Given the description of an element on the screen output the (x, y) to click on. 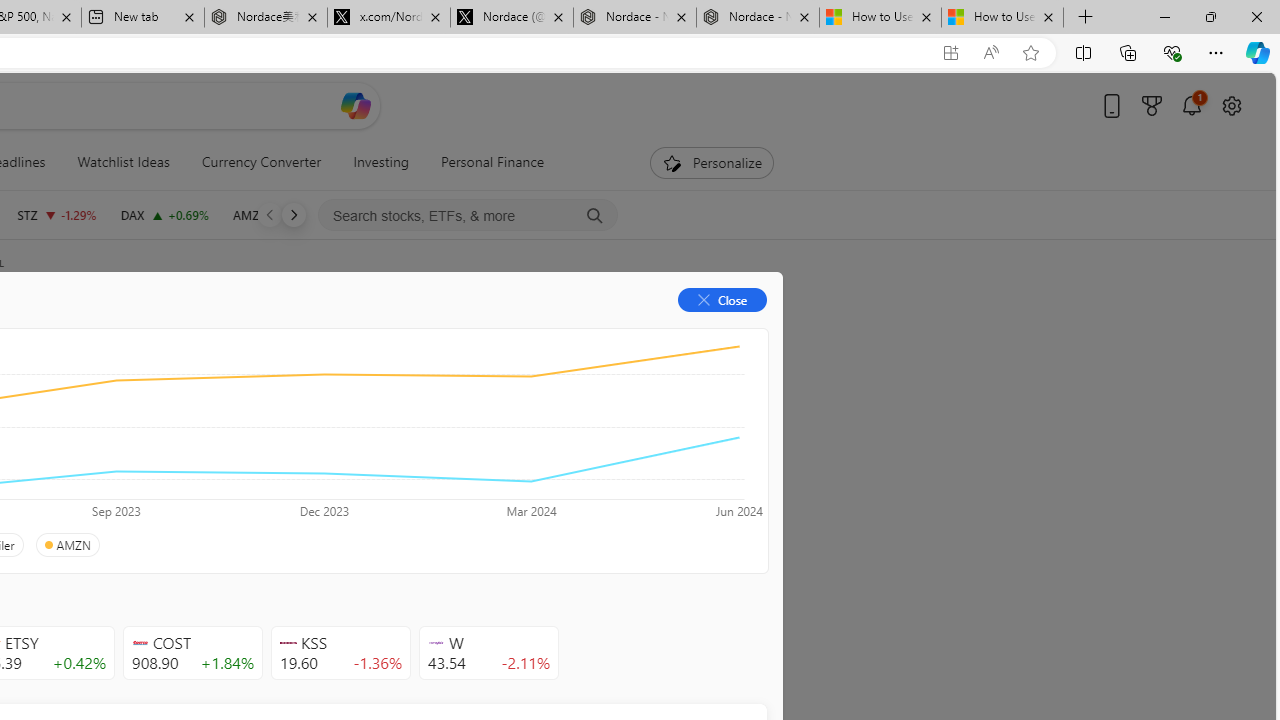
Financials (209, 331)
Summary (107, 331)
Next (293, 214)
Options (693, 331)
STZ CONSTELLATION BRANDS, INC. decrease 239.98 -3.13 -1.29% (56, 214)
Personal Finance (493, 162)
Personal Finance (484, 162)
Investing (381, 162)
Nordace (@NordaceOfficial) / X (511, 17)
Investing (381, 162)
Class: autoSuggestIcon-DS-EntryPoint1-2 (436, 643)
